Given the description of an element on the screen output the (x, y) to click on. 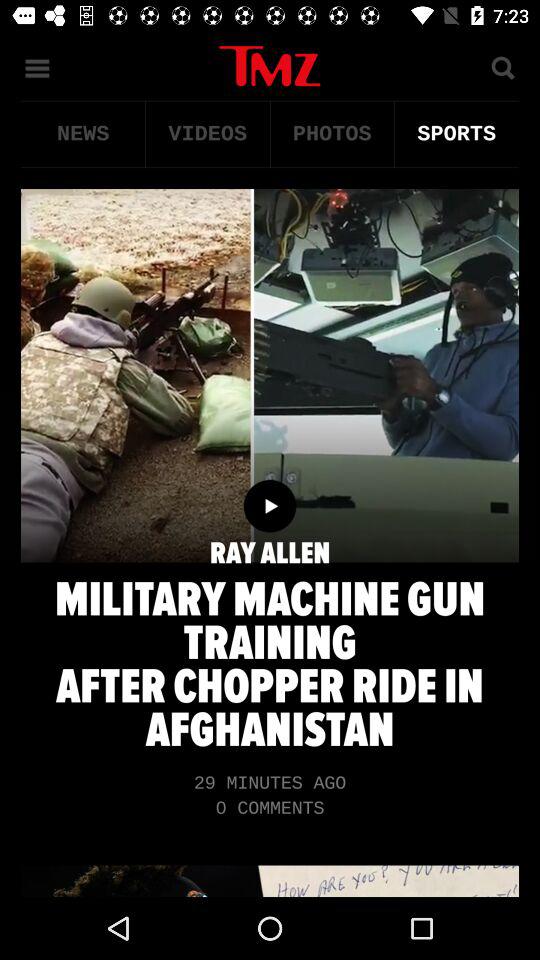
choose the icon to the right of videos app (332, 133)
